Given the description of an element on the screen output the (x, y) to click on. 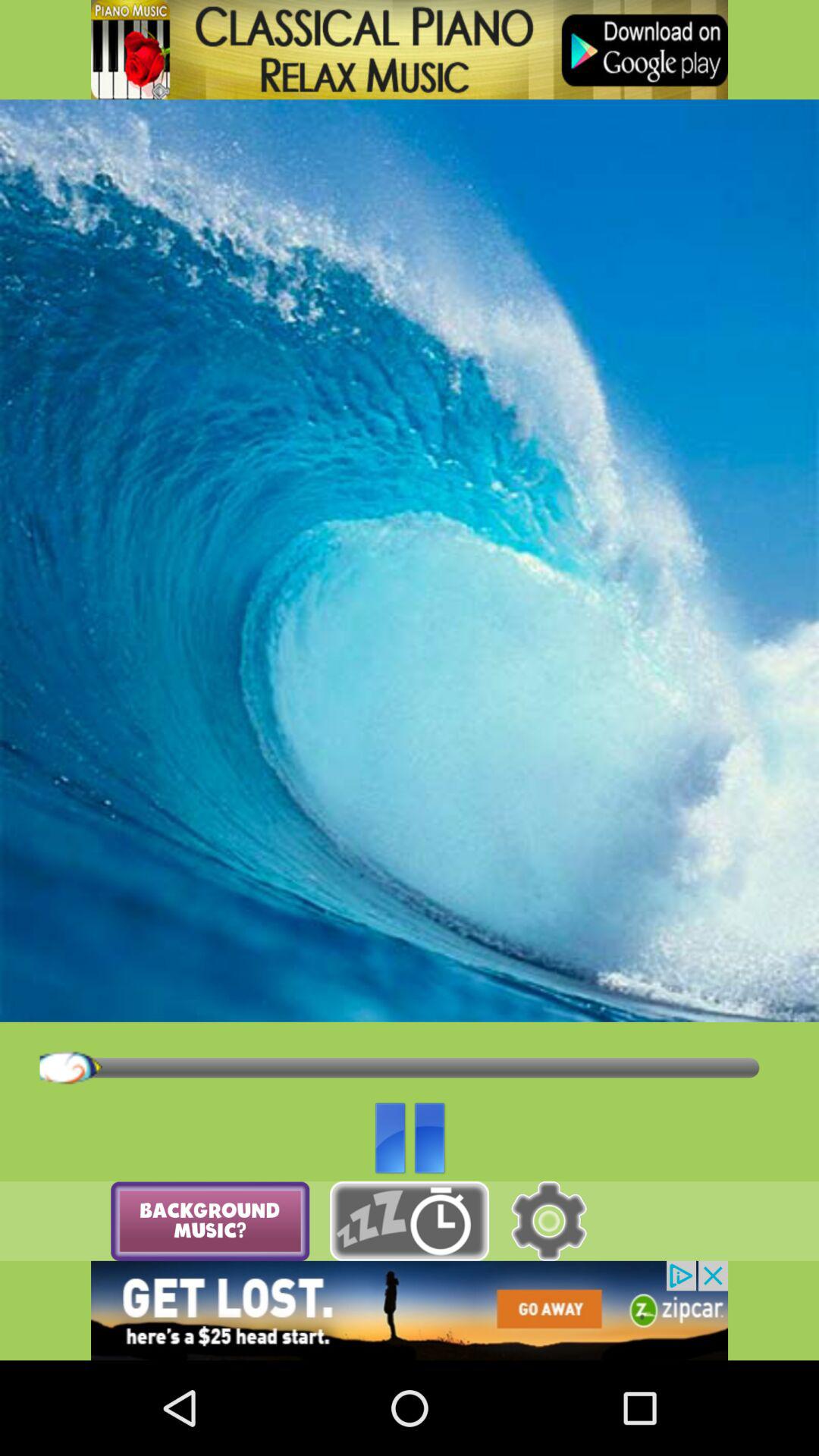
classical piano icon (409, 49)
